Given the description of an element on the screen output the (x, y) to click on. 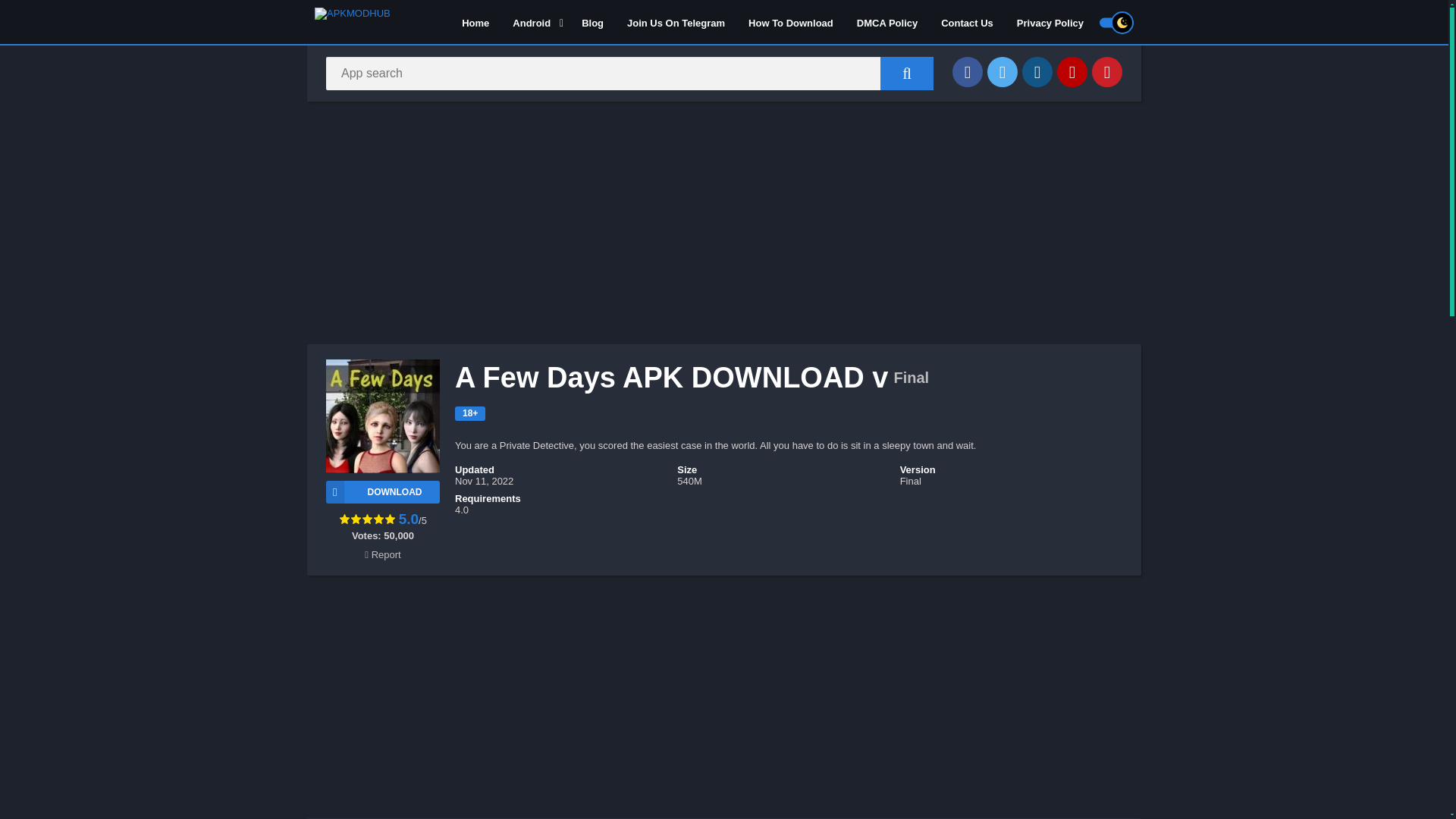
Twitter (1002, 71)
Facebook (967, 71)
Instagram (1037, 71)
Android (534, 22)
Home (474, 22)
Download (382, 491)
App search (906, 73)
YouTube (1072, 71)
Pinterest (1107, 71)
